Given the description of an element on the screen output the (x, y) to click on. 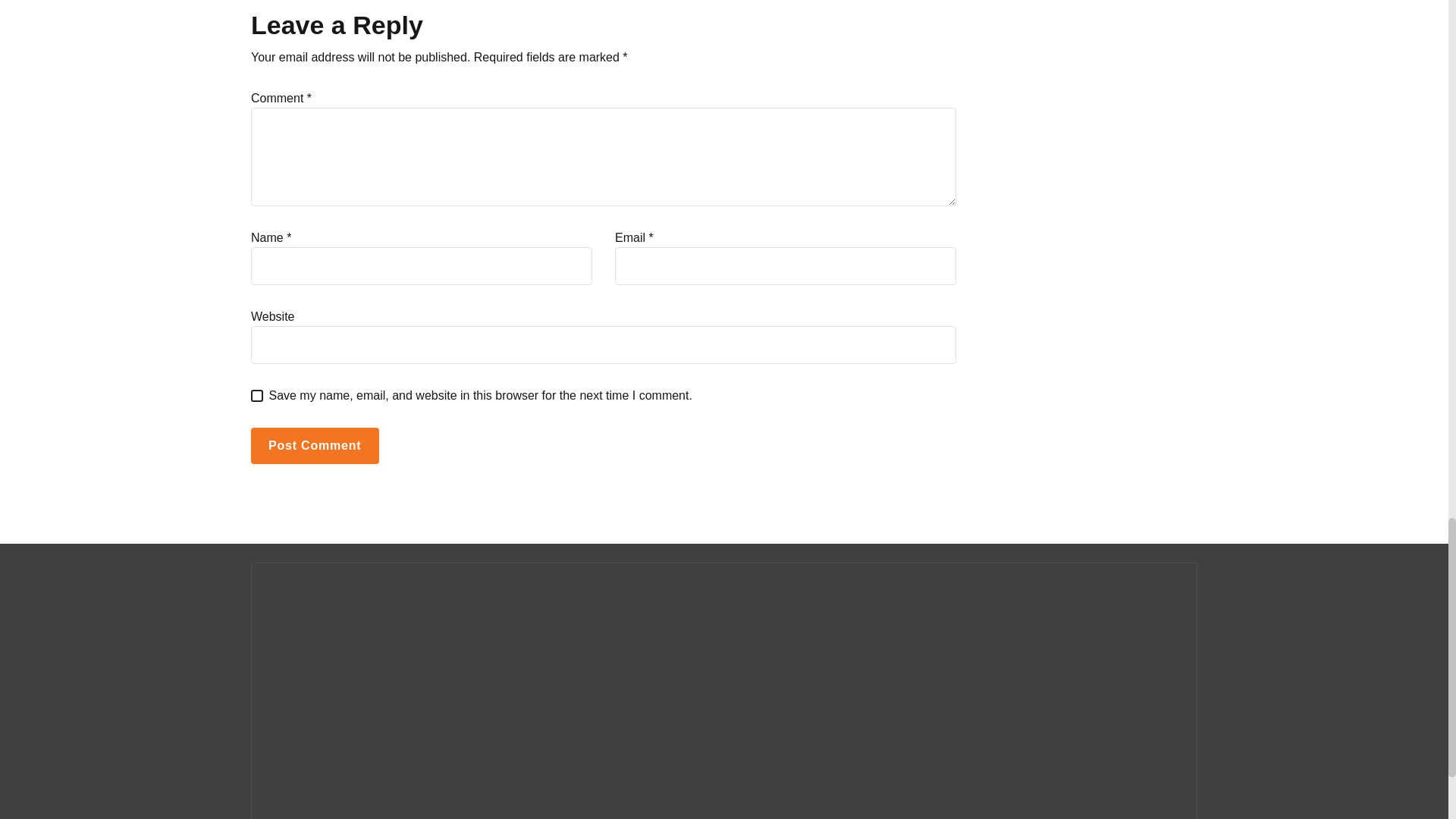
Post Comment (314, 445)
yes (256, 395)
Post Comment (314, 445)
